Given the description of an element on the screen output the (x, y) to click on. 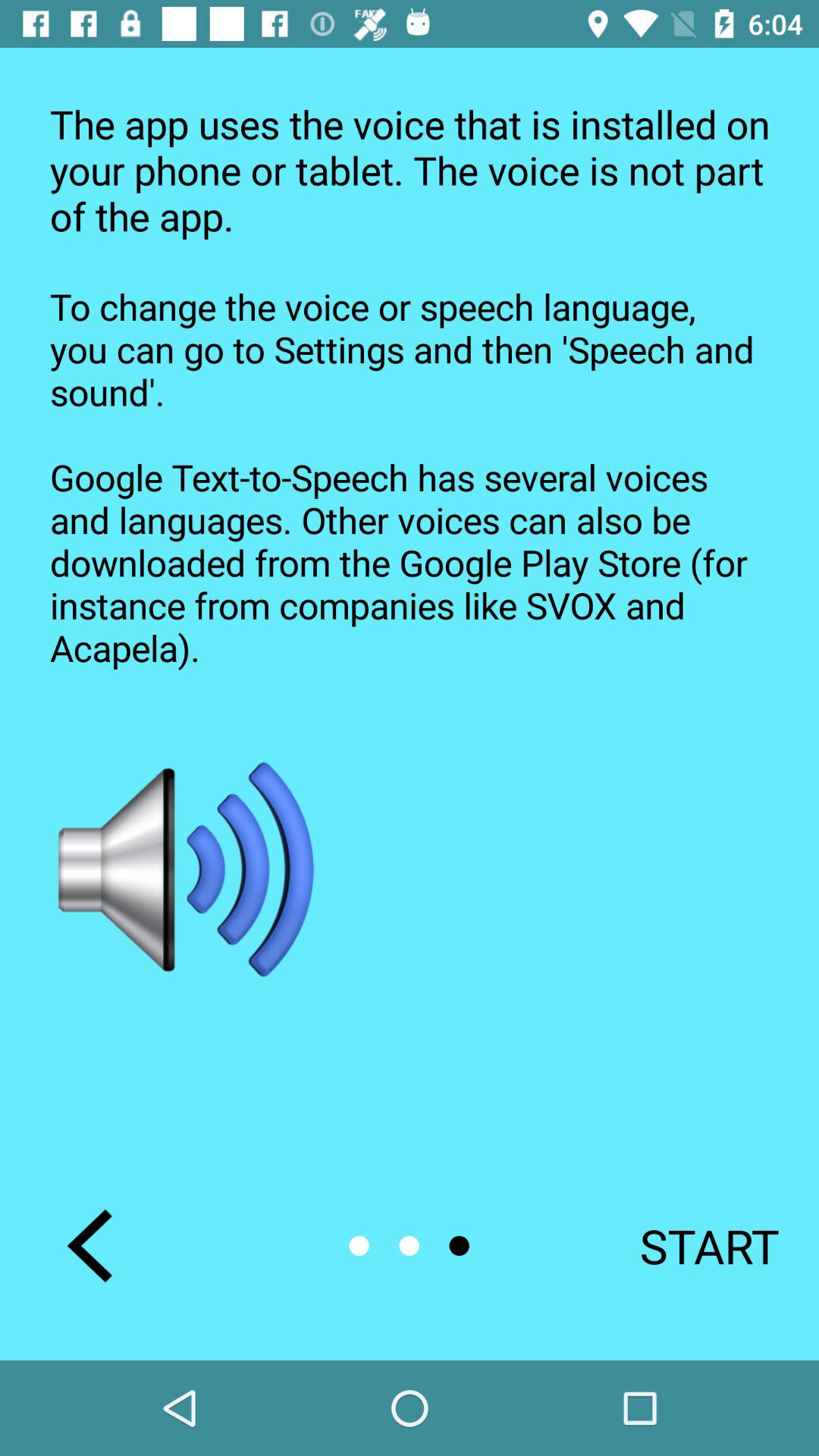
scroll until the start button (689, 1245)
